Given the description of an element on the screen output the (x, y) to click on. 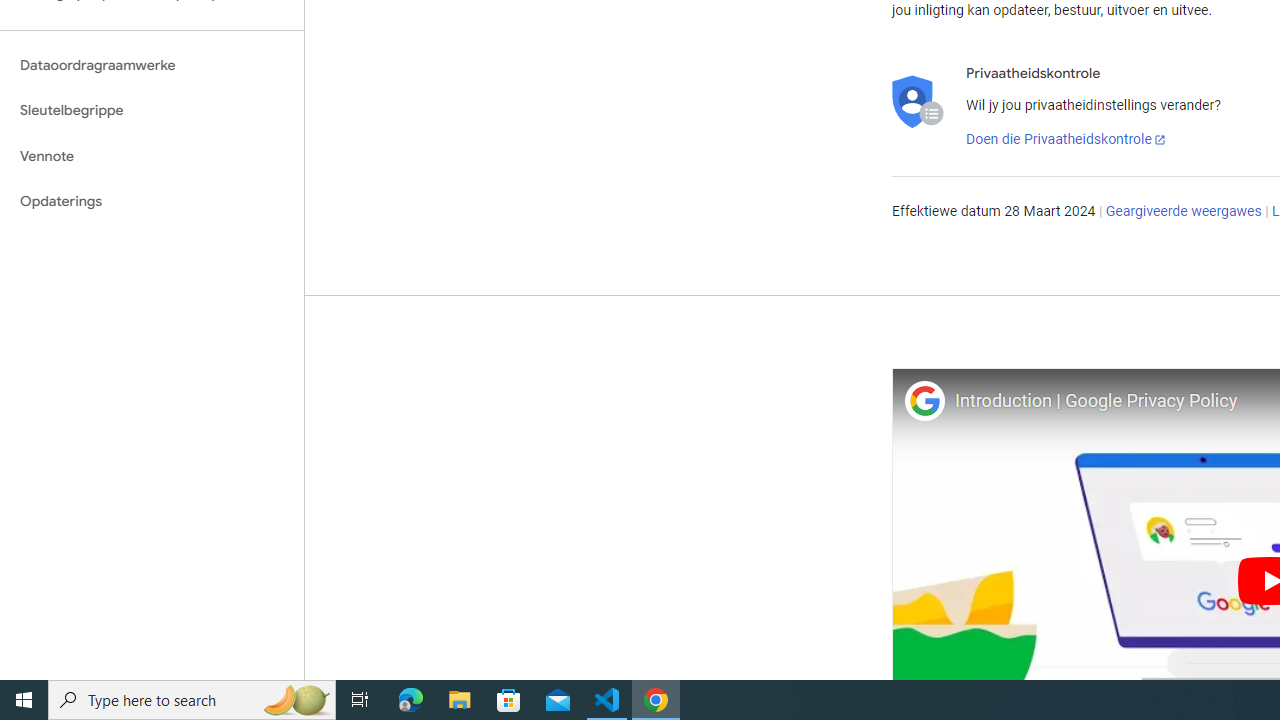
Sleutelbegrippe (152, 110)
Vennote (152, 156)
Opdaterings (152, 201)
Geargiveerde weergawes (1183, 212)
Doen die Privaatheidskontrole (1066, 140)
Dataoordragraamwerke (152, 65)
Fotobeeld van Google (924, 400)
